Given the description of an element on the screen output the (x, y) to click on. 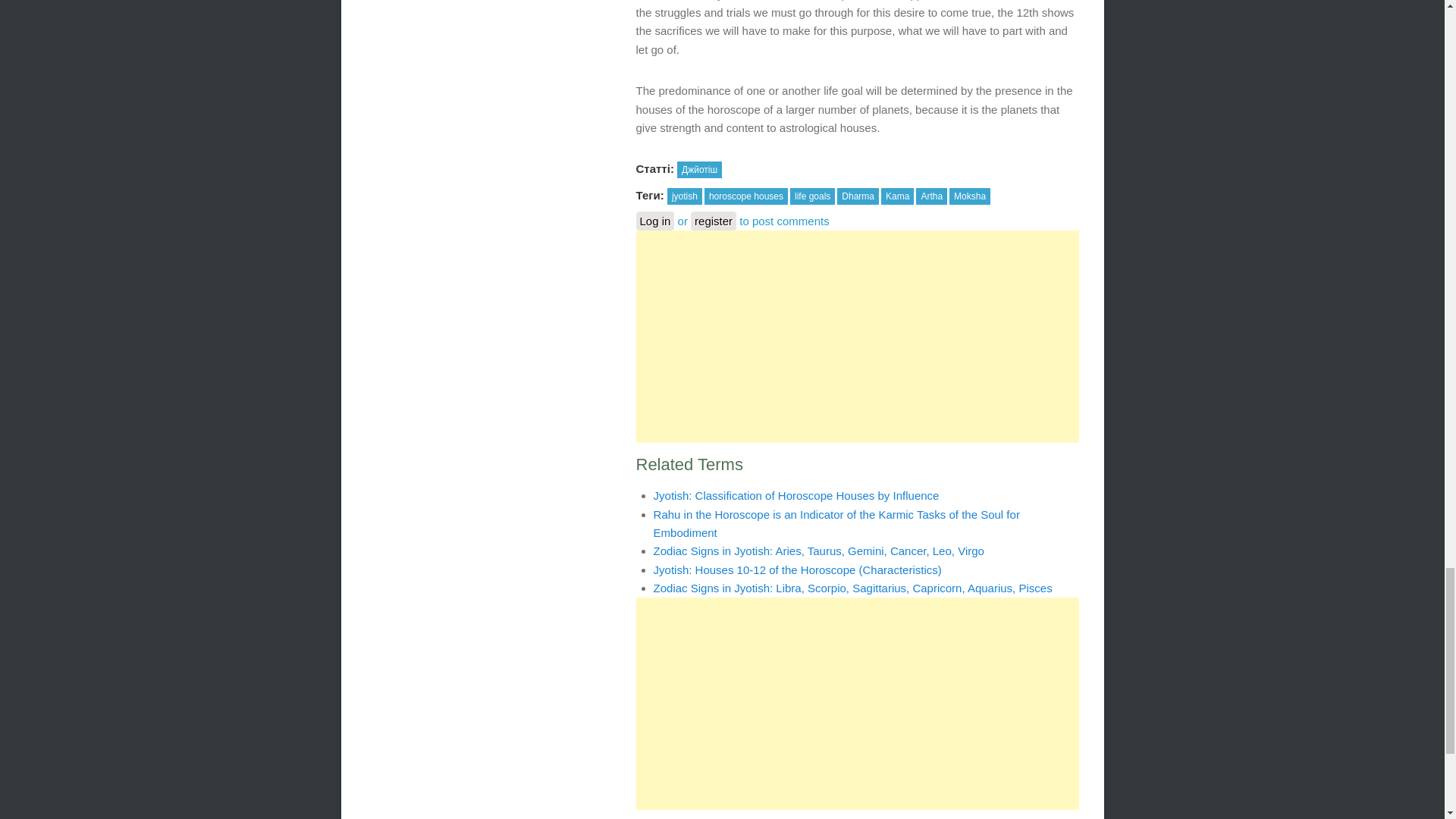
Jyotish: Classification of Horoscope Houses by Influence (796, 495)
Dharma (858, 196)
Moksha (969, 196)
Kama (897, 196)
register (713, 220)
horoscope houses (745, 196)
Artha (931, 196)
Log in (654, 220)
